Given the description of an element on the screen output the (x, y) to click on. 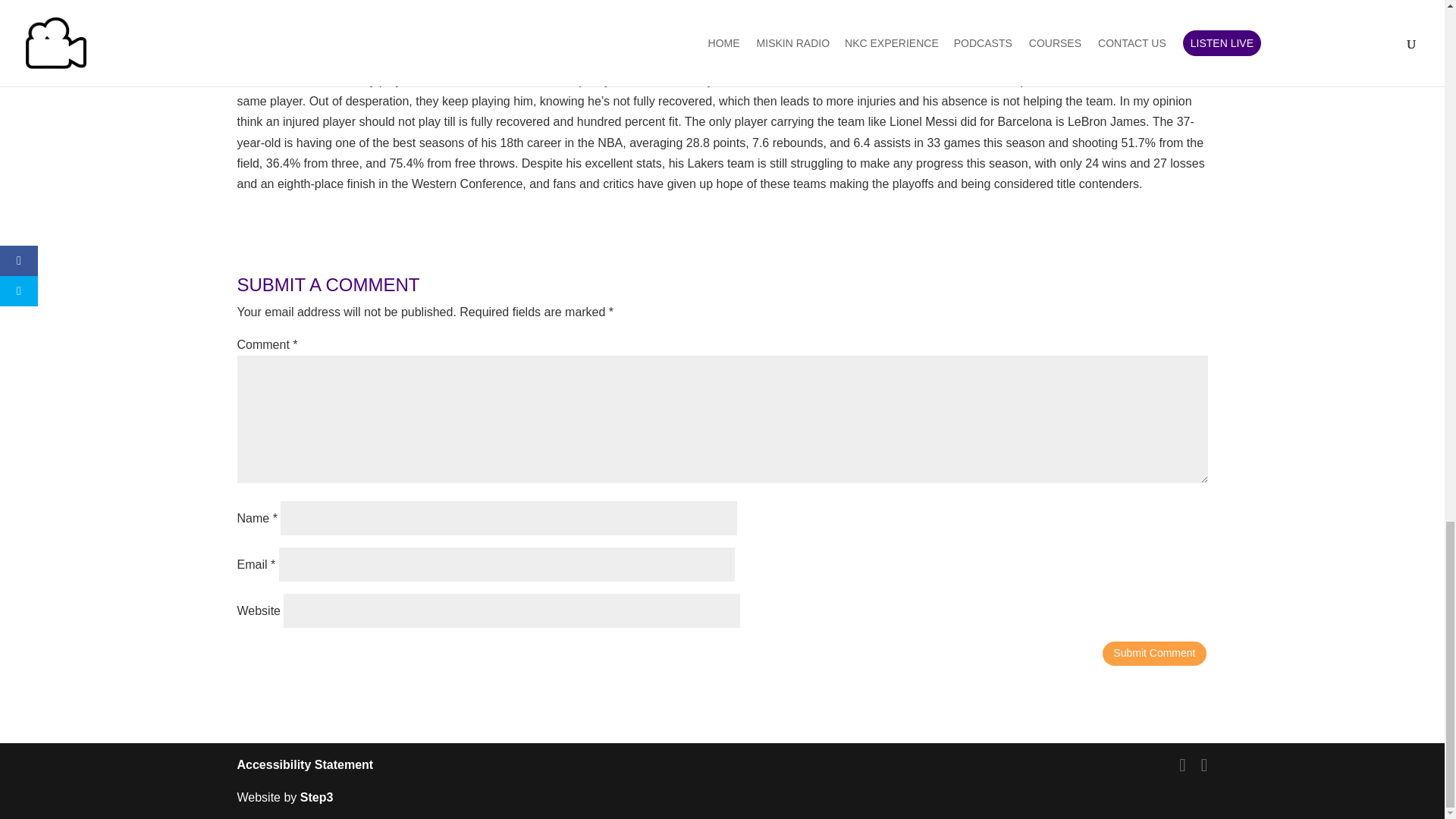
Submit Comment (1153, 653)
Step3 (316, 797)
Accessibility Statement (303, 764)
Submit Comment (1153, 653)
